Given the description of an element on the screen output the (x, y) to click on. 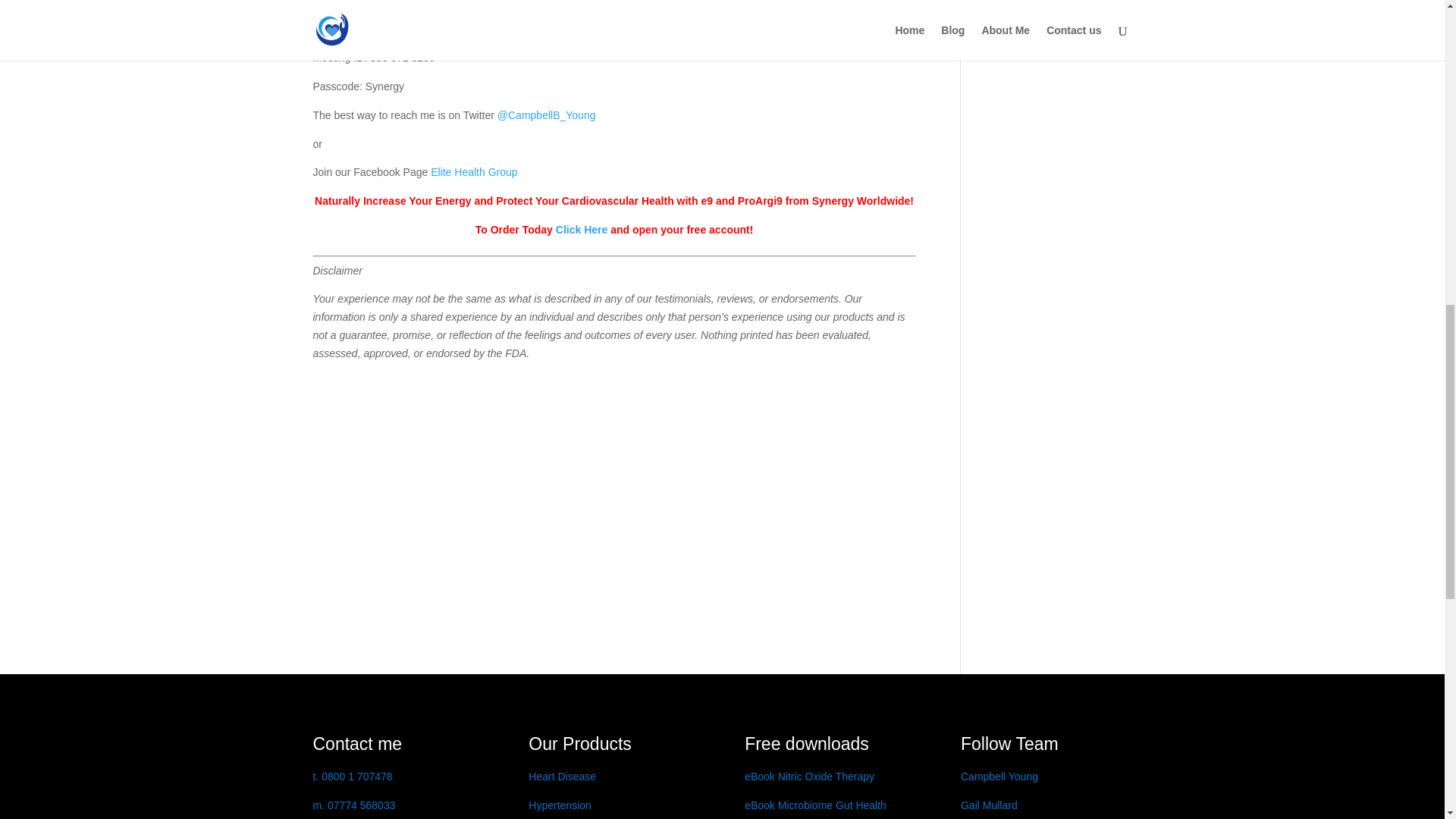
Join Zoom Meeting (358, 28)
Click Here (581, 229)
19.00 hrs GMT  Every Wednesday. (424, 3)
My Story (357, 743)
Elite Health Group (473, 172)
Contact me (357, 743)
